Given the description of an element on the screen output the (x, y) to click on. 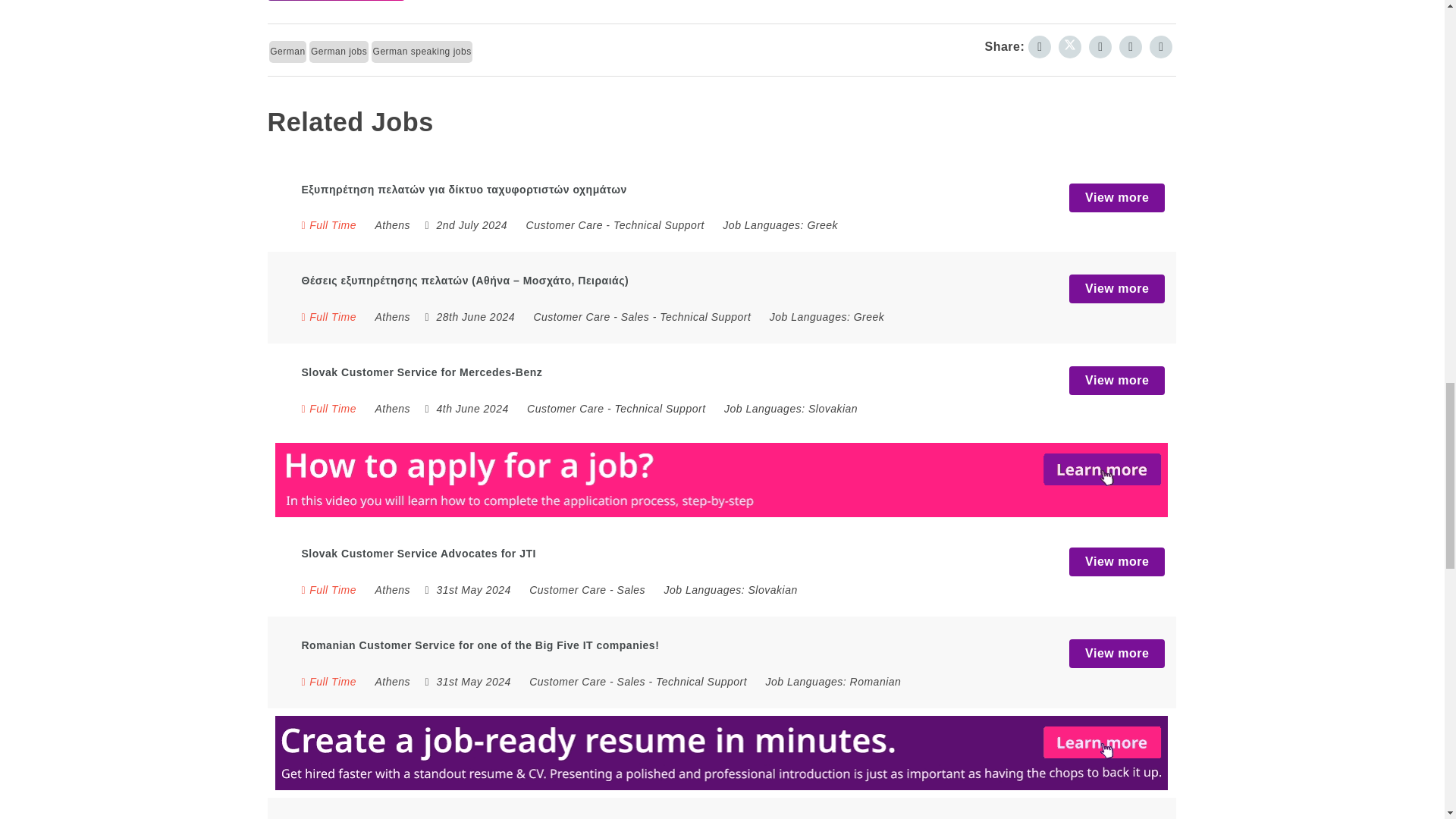
Share on Twitter (1069, 47)
Share on Pinterest (1100, 47)
Share on Facebook (1039, 47)
Share on email (1161, 47)
Share on LinkedIn (1130, 47)
